Given the description of an element on the screen output the (x, y) to click on. 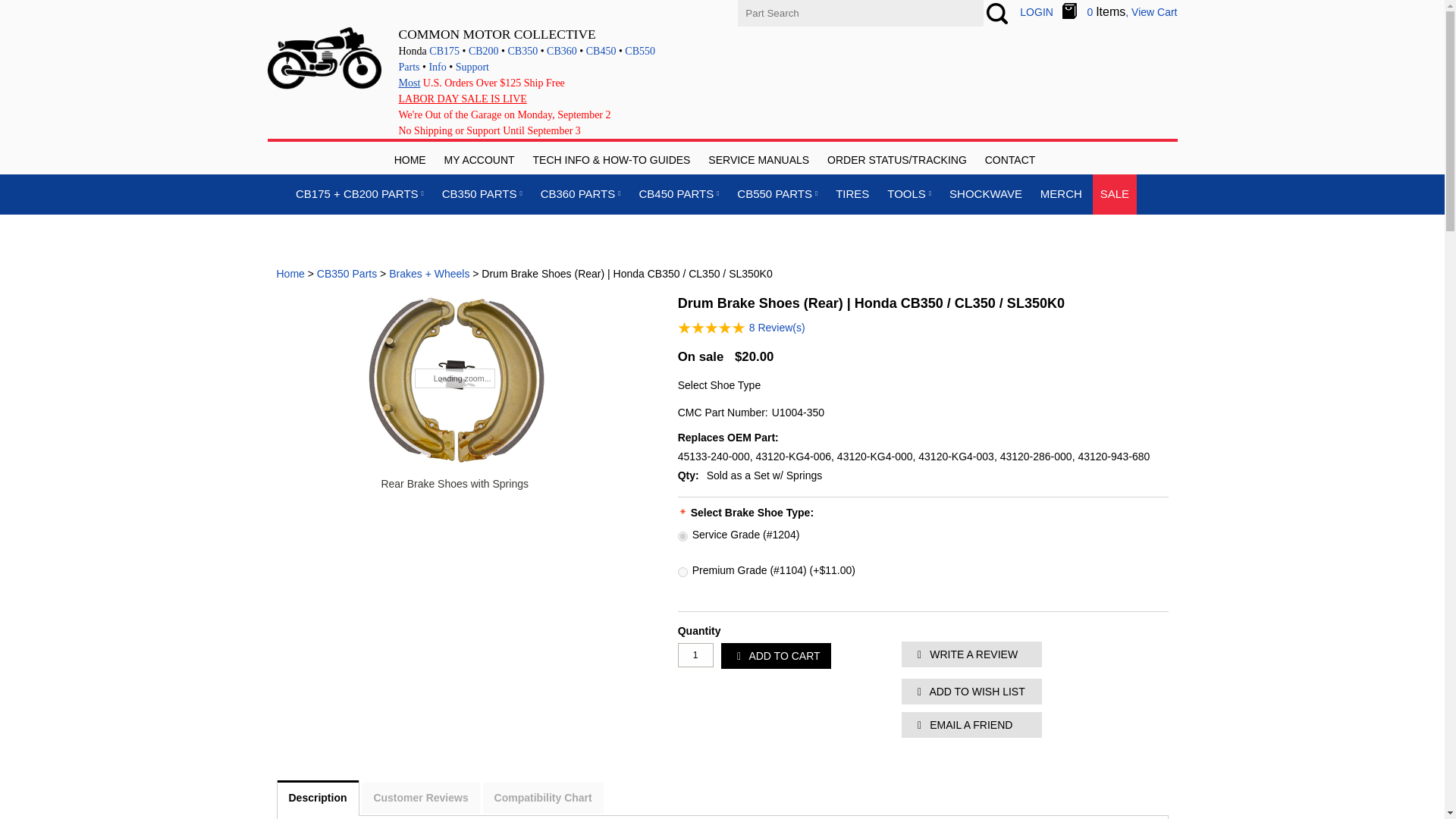
2589 (682, 572)
CB350 (523, 50)
LABOR DAY SALE IS LIVE (462, 98)
Rear Brake Shoes with Springs  (453, 483)
CB550 (639, 50)
CB360 (561, 50)
Support (472, 66)
0 Items, View Cart (1119, 11)
Parts (409, 66)
CB200 (483, 50)
